Given the description of an element on the screen output the (x, y) to click on. 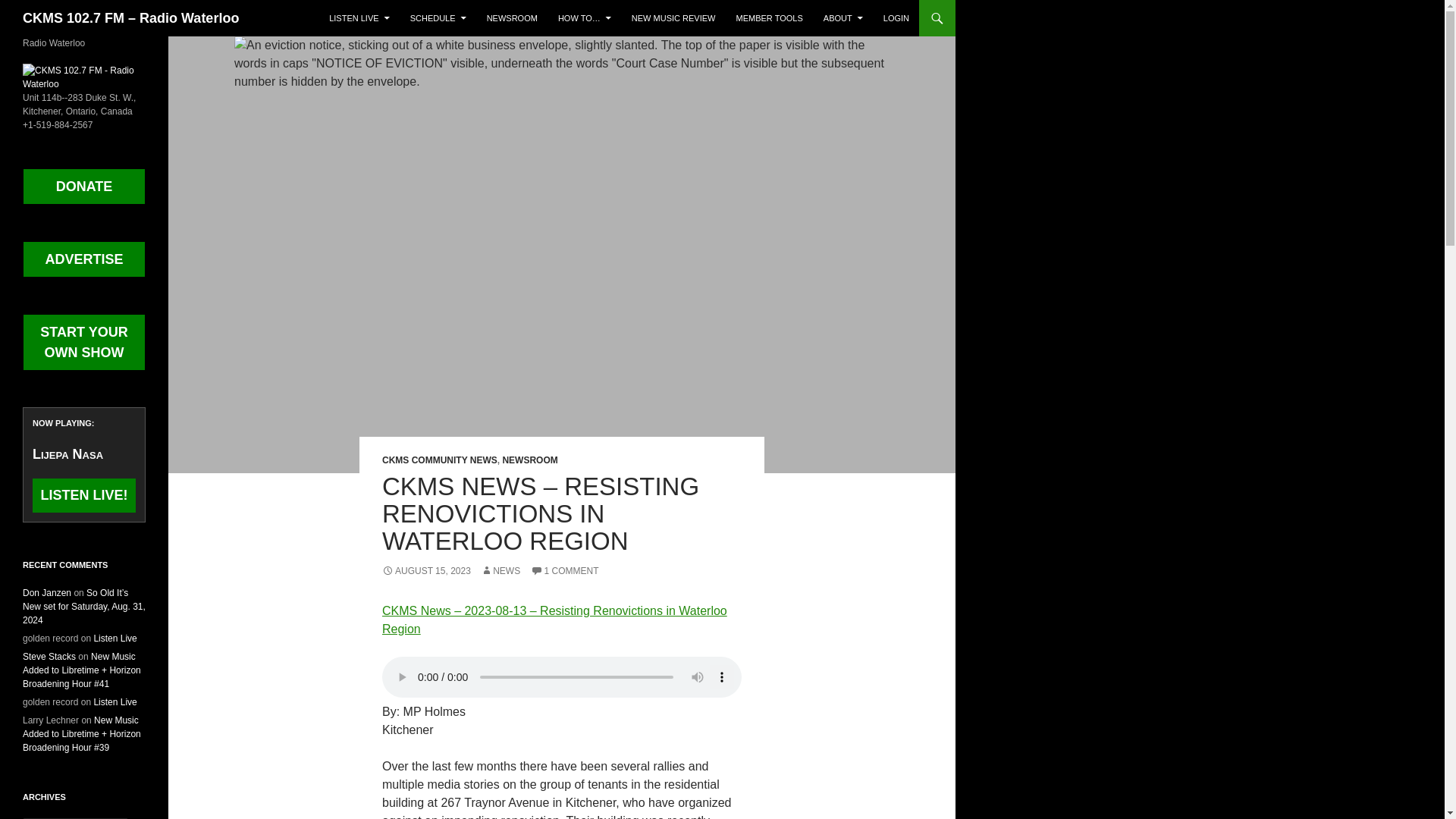
NEWSROOM (512, 18)
SCHEDULE (438, 18)
CKMS COMMUNITY NEWS (439, 460)
CKMS 102.7 FM - Radio Waterloo (84, 76)
MEMBER TOOLS (768, 18)
AUGUST 15, 2023 (425, 570)
LOGIN (896, 18)
NEWSROOM (529, 460)
NEW MUSIC REVIEW (674, 18)
ABOUT (842, 18)
